Given the description of an element on the screen output the (x, y) to click on. 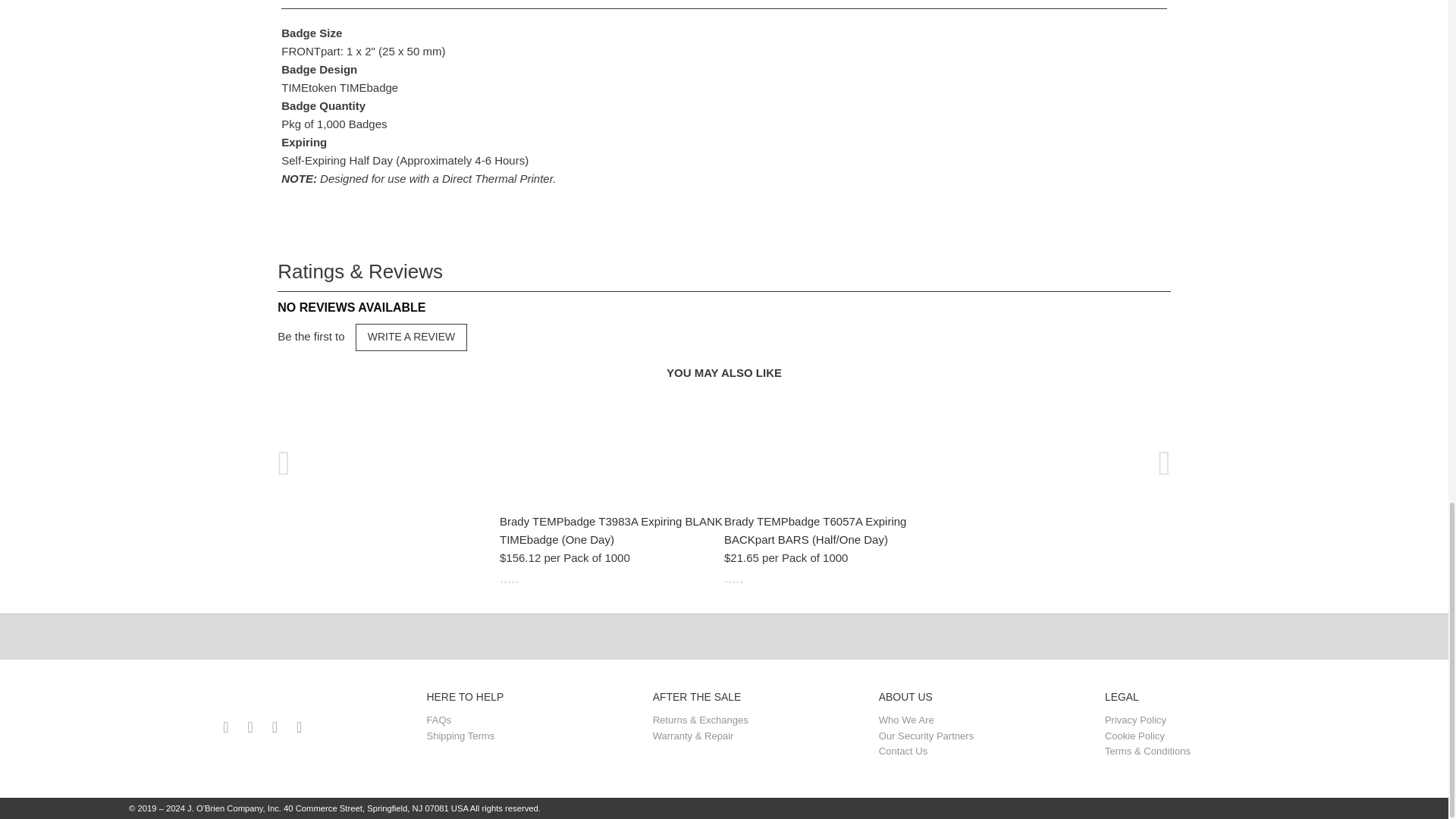
J O'Brien Webstore (268, 698)
